Given the description of an element on the screen output the (x, y) to click on. 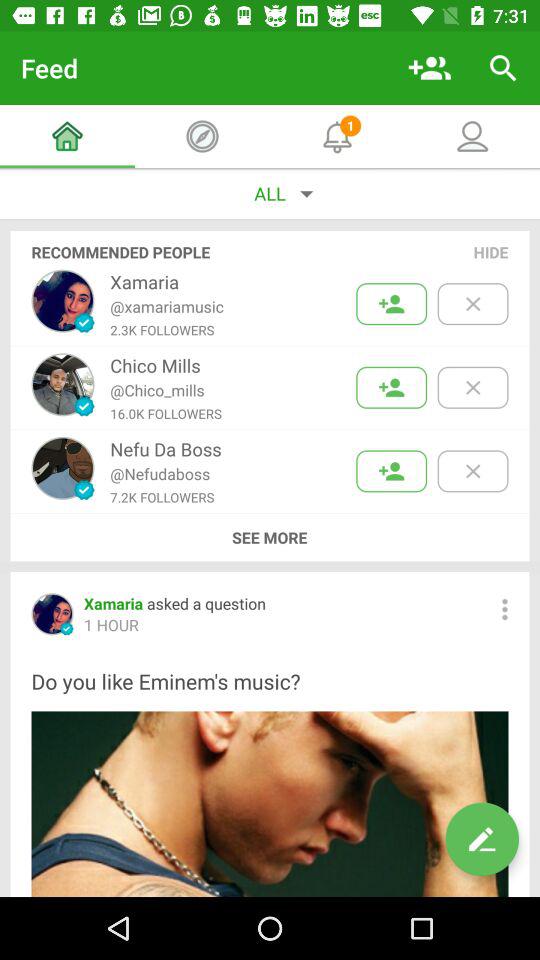
delete suggestion (472, 387)
